Given the description of an element on the screen output the (x, y) to click on. 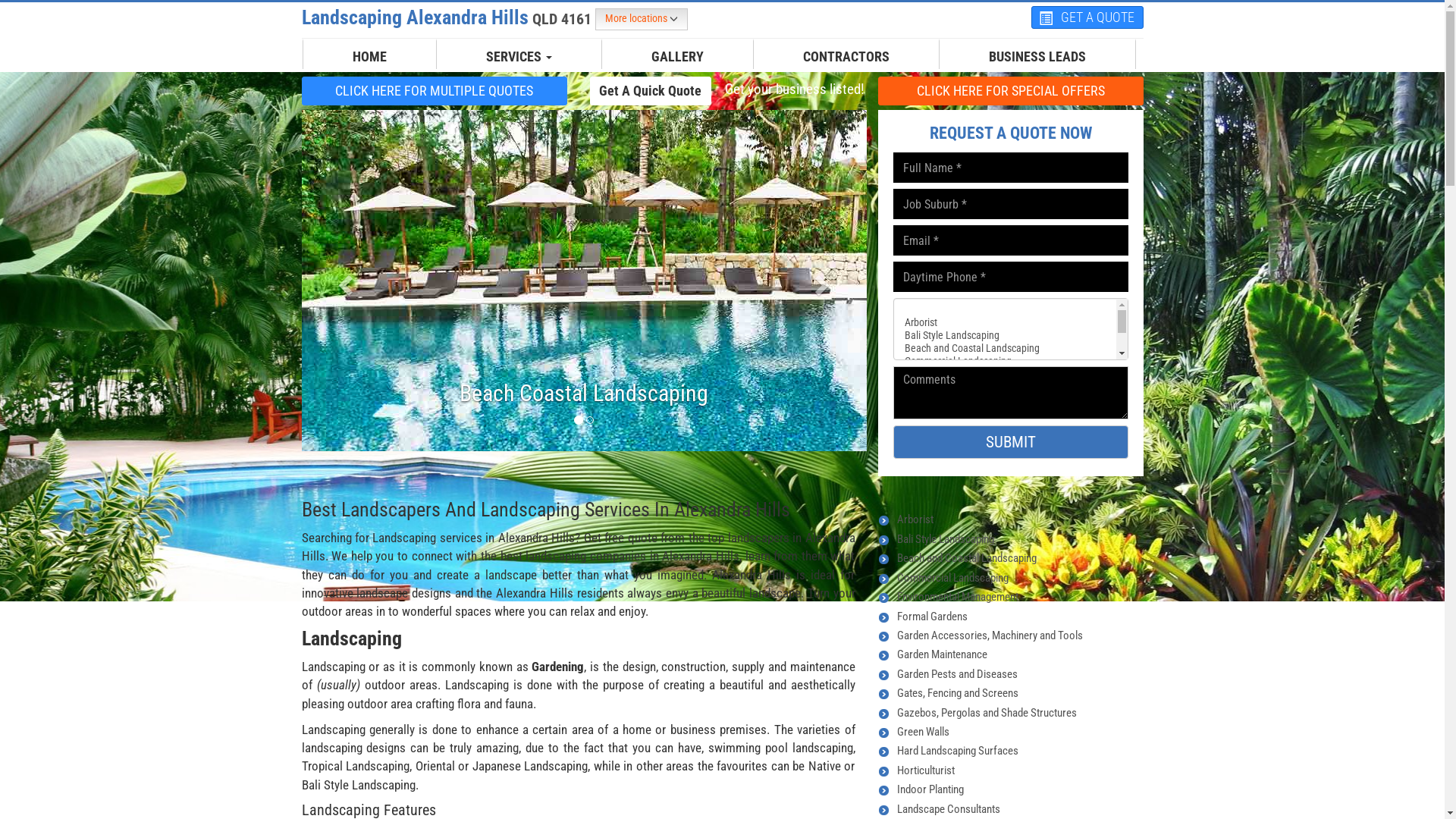
SUBMIT Element type: text (1010, 441)
Gazebos, Pergolas and Shade Structures Element type: text (986, 712)
Landscape Consultants Element type: text (947, 808)
Garden Accessories, Machinery and Tools Element type: text (989, 635)
Gates, Fencing and Screens Element type: text (956, 692)
Get A Quick Quote Element type: text (650, 90)
Bali Style Landscaping Element type: text (944, 539)
CLICK HERE FOR MULTIPLE QUOTES Element type: text (434, 90)
HOME Element type: text (369, 56)
Formal Gardens Element type: text (931, 616)
Previous Element type: text (343, 280)
CLICK HERE FOR MULTIPLE QUOTES Element type: text (434, 90)
Get A Quick Quote Element type: text (650, 90)
More locations Element type: text (640, 19)
Next Element type: text (823, 280)
SERVICES Element type: text (518, 56)
GALLERY Element type: text (677, 56)
Commercial Landscaping Element type: text (951, 577)
CLICK HERE FOR SPECIAL OFFERS Element type: text (1010, 90)
BUSINESS LEADS Element type: text (1036, 56)
Environmental Management Element type: text (956, 596)
Arborist Element type: text (914, 519)
Garden Pests and Diseases Element type: text (956, 673)
Garden Maintenance Element type: text (941, 654)
Horticulturist Element type: text (924, 770)
GET A QUOTE Element type: text (1087, 17)
Landscaping Alexandra Hills QLD 4161 Element type: text (448, 17)
Indoor Planting Element type: text (929, 789)
Green Walls Element type: text (922, 731)
CONTRACTORS Element type: text (845, 56)
Get your business listed! Element type: text (793, 89)
Beach and Coastal Landscaping Element type: text (965, 557)
CLICK HERE FOR SPECIAL OFFERS Element type: text (1010, 90)
Hard Landscaping Surfaces Element type: text (956, 750)
